Given the description of an element on the screen output the (x, y) to click on. 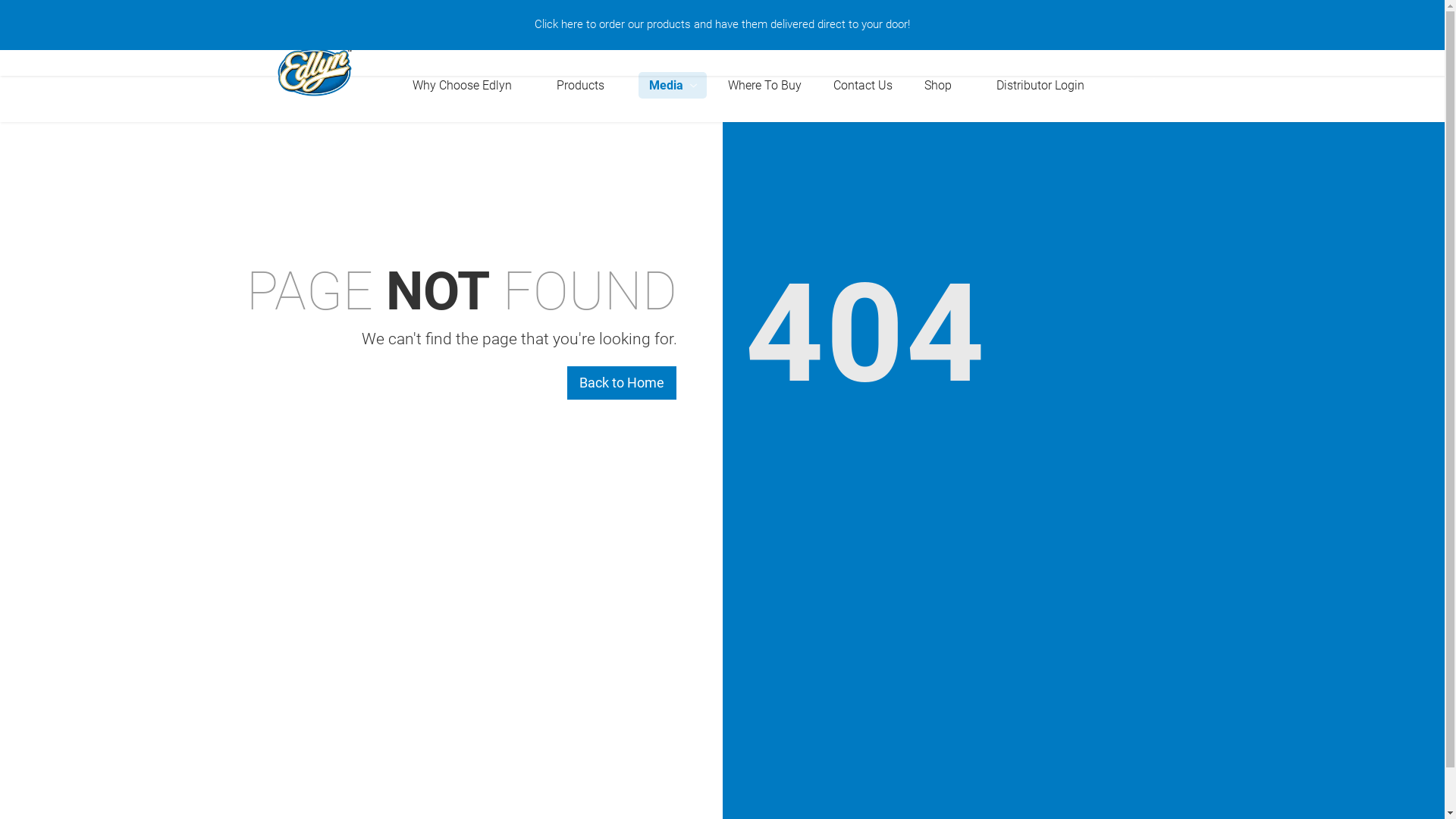
Products Element type: text (586, 85)
Distributor Login Element type: text (1040, 85)
Why Choose Edlyn Element type: text (468, 85)
Shop Element type: text (943, 85)
Media Element type: text (672, 85)
Contact Us Element type: text (862, 85)
Where To Buy Element type: text (764, 85)
Back to Home Element type: text (620, 382)
